Given the description of an element on the screen output the (x, y) to click on. 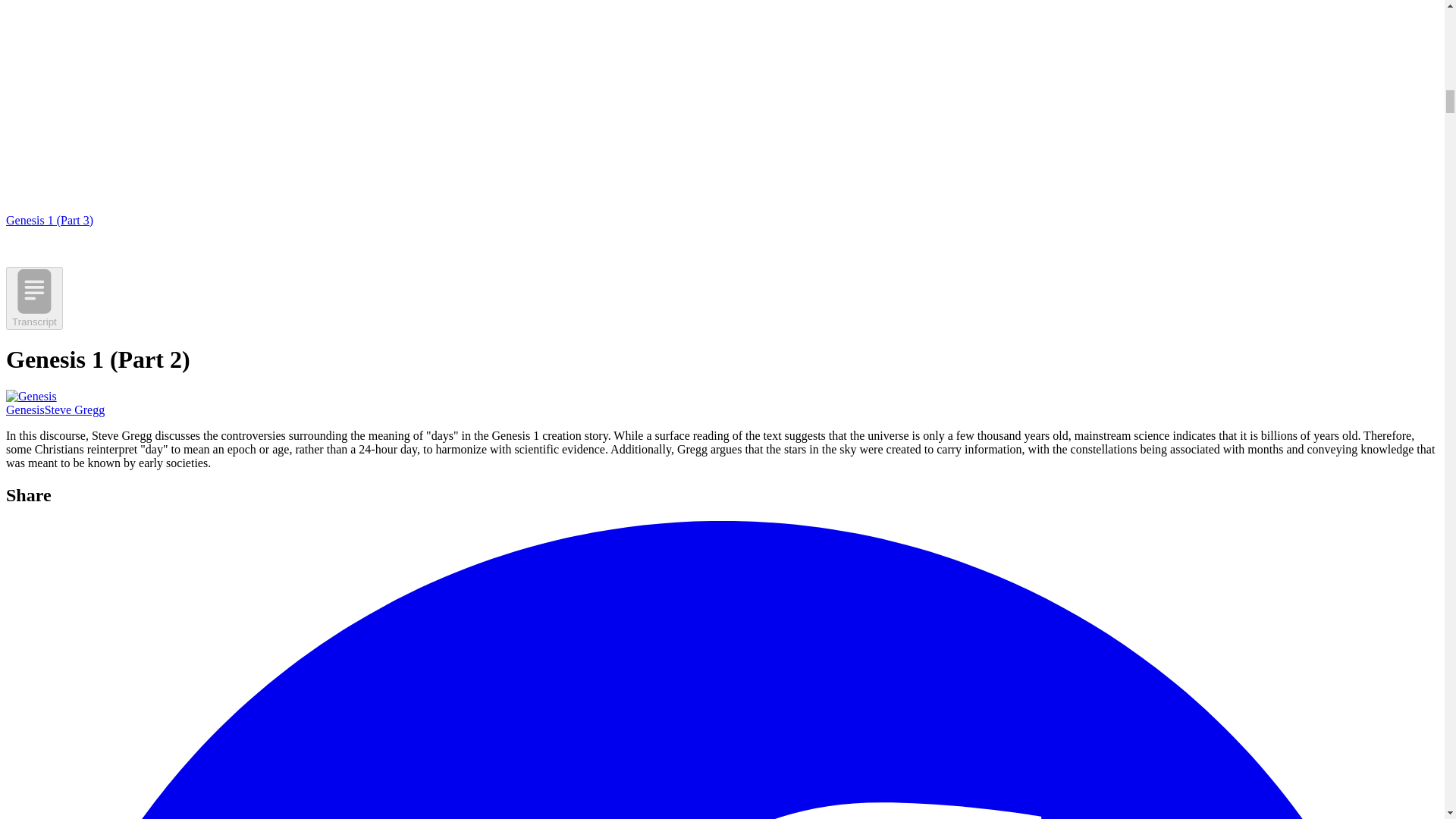
Transcript (33, 298)
